Given the description of an element on the screen output the (x, y) to click on. 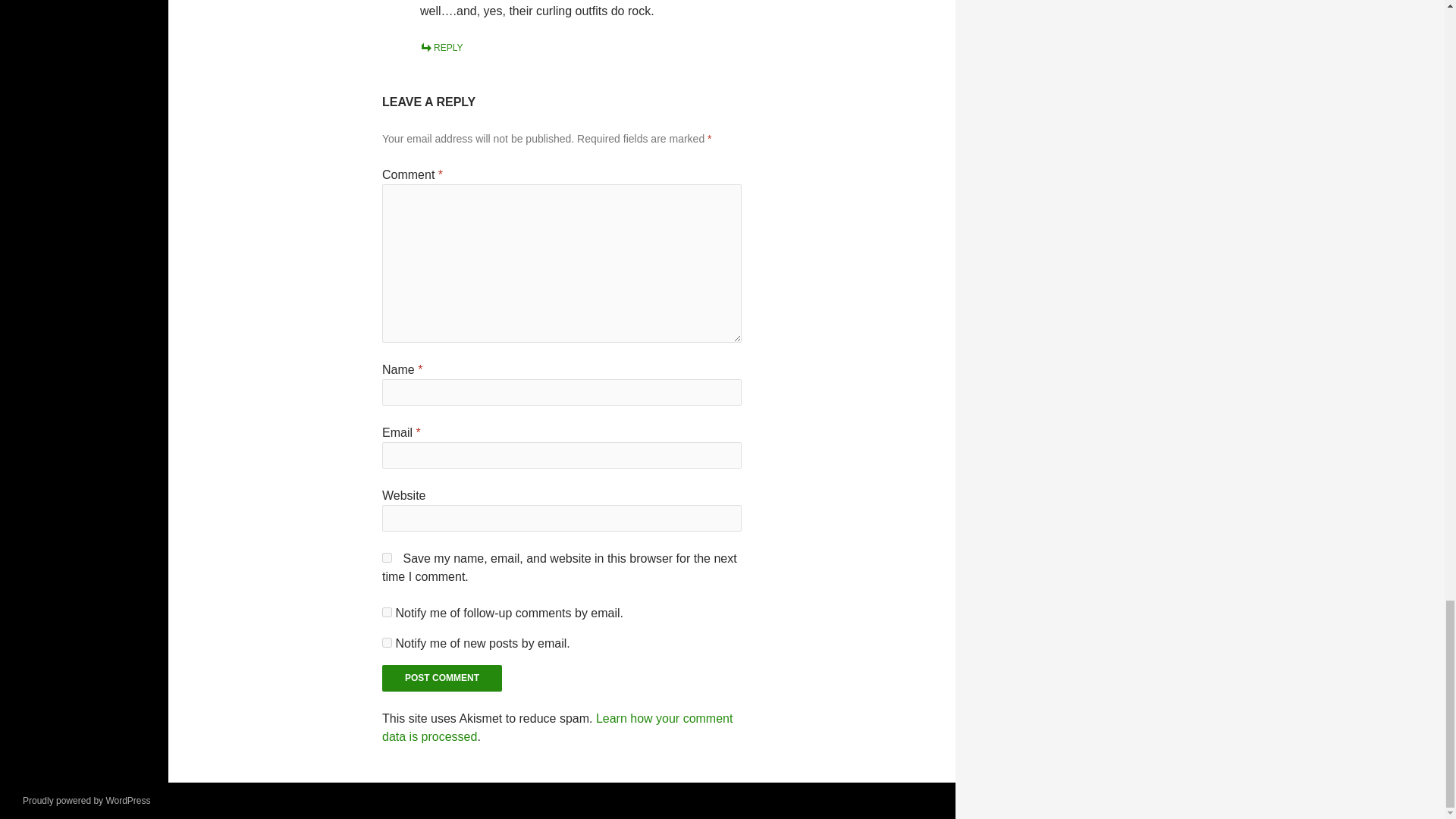
REPLY (441, 47)
yes (386, 557)
subscribe (386, 642)
subscribe (386, 612)
Post Comment (441, 678)
